Given the description of an element on the screen output the (x, y) to click on. 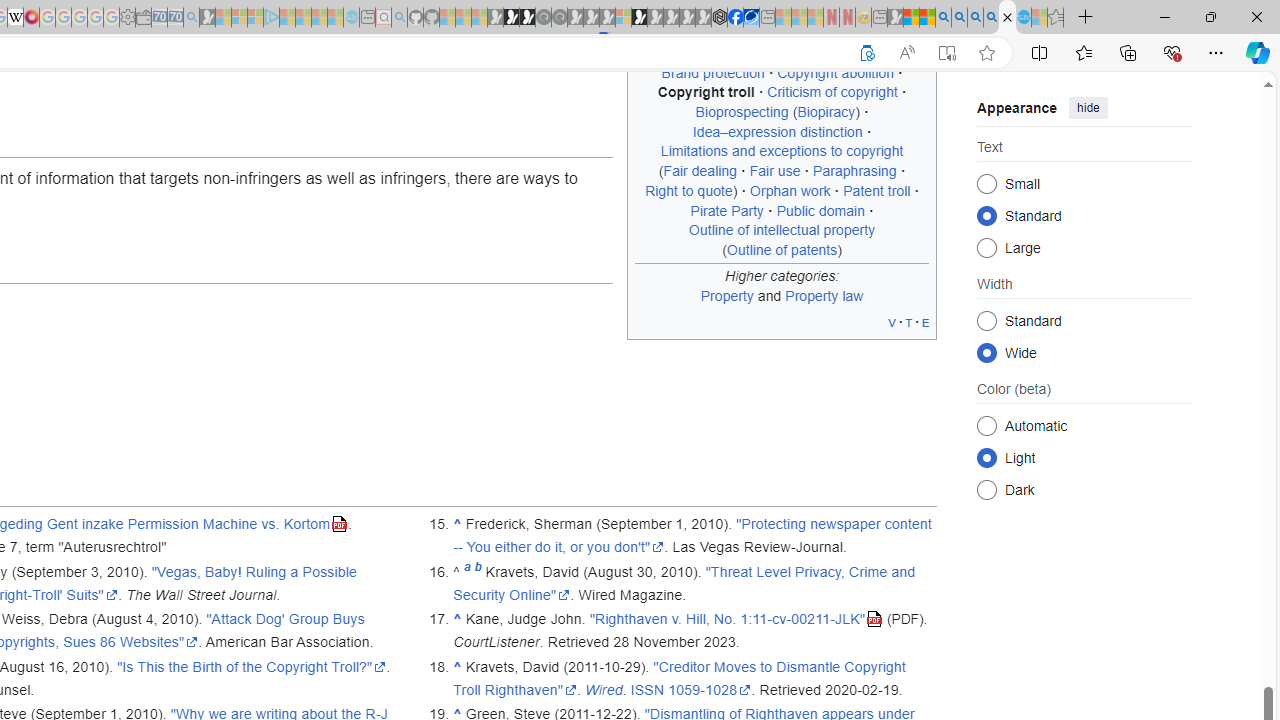
Limitations and exceptions to copyright (781, 151)
Biopiracy (826, 111)
ISSN (647, 689)
Wallet - Sleeping (143, 17)
Pirate Party (727, 210)
Bioprospecting (741, 111)
Nordace | Facebook (735, 17)
"Threat Level Privacy, Crime and Security Online" (684, 583)
Light (986, 457)
Fair use (774, 171)
